Given the description of an element on the screen output the (x, y) to click on. 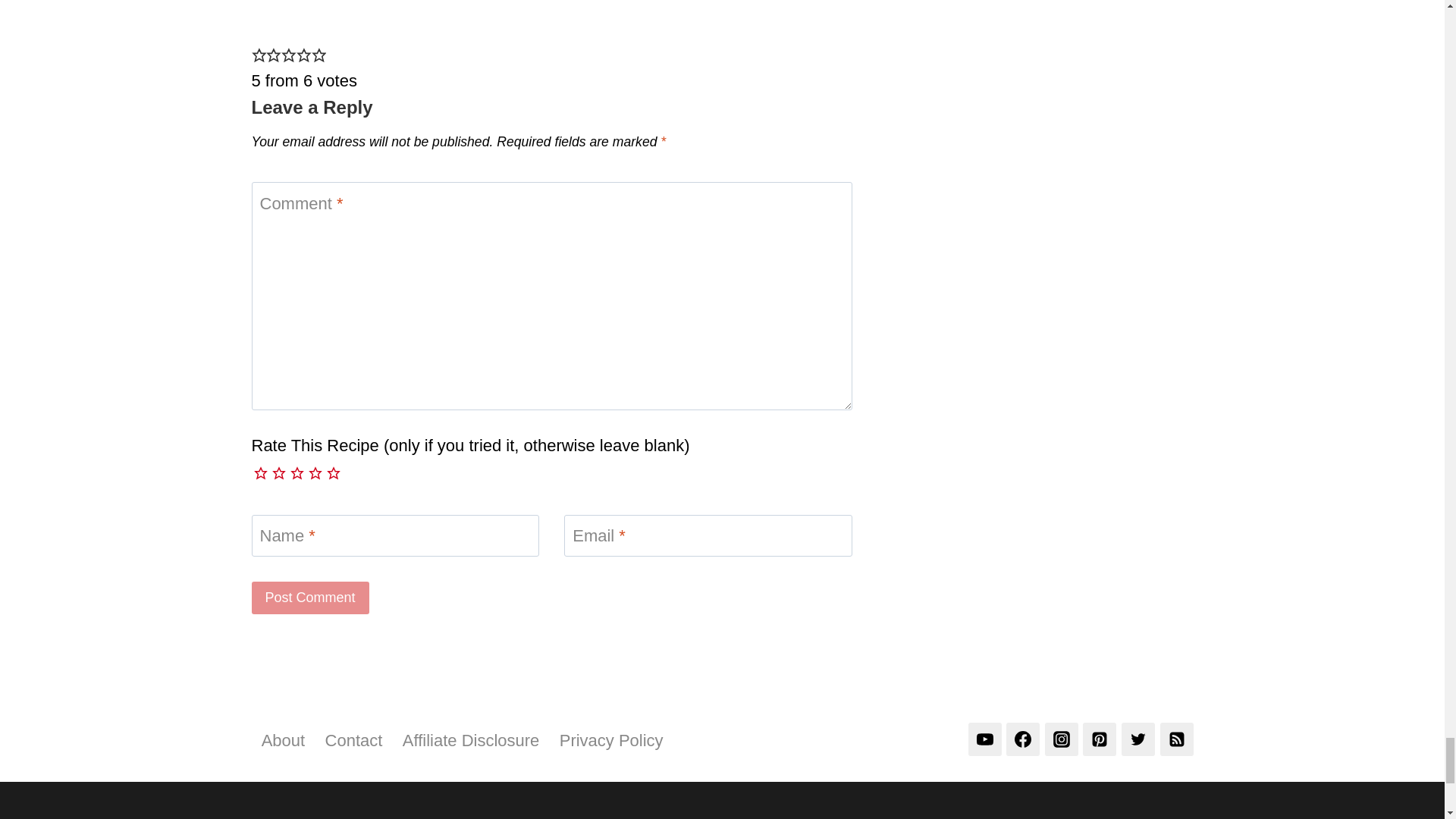
Post Comment (310, 596)
